Given the description of an element on the screen output the (x, y) to click on. 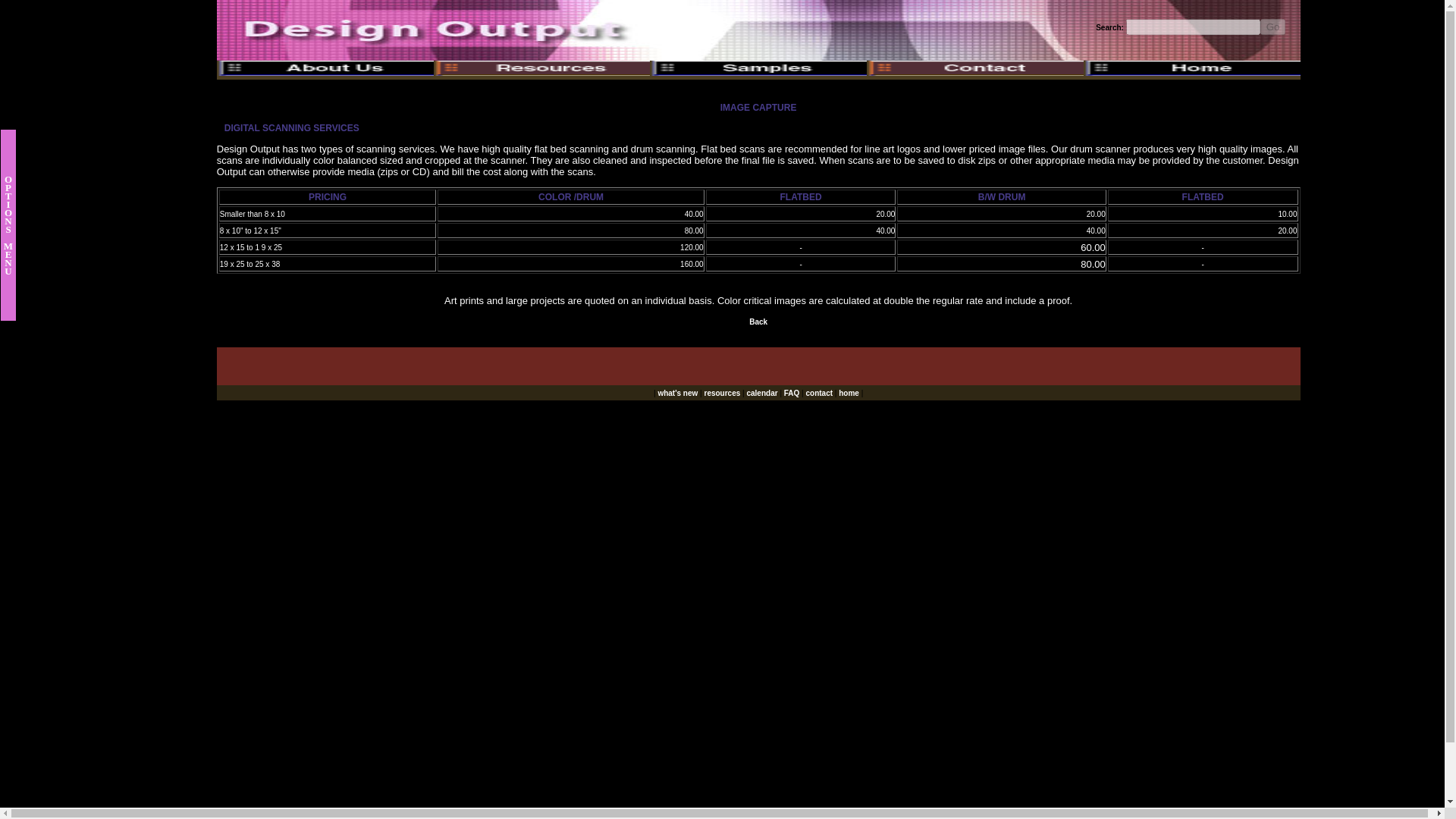
Go (1272, 26)
